Given the description of an element on the screen output the (x, y) to click on. 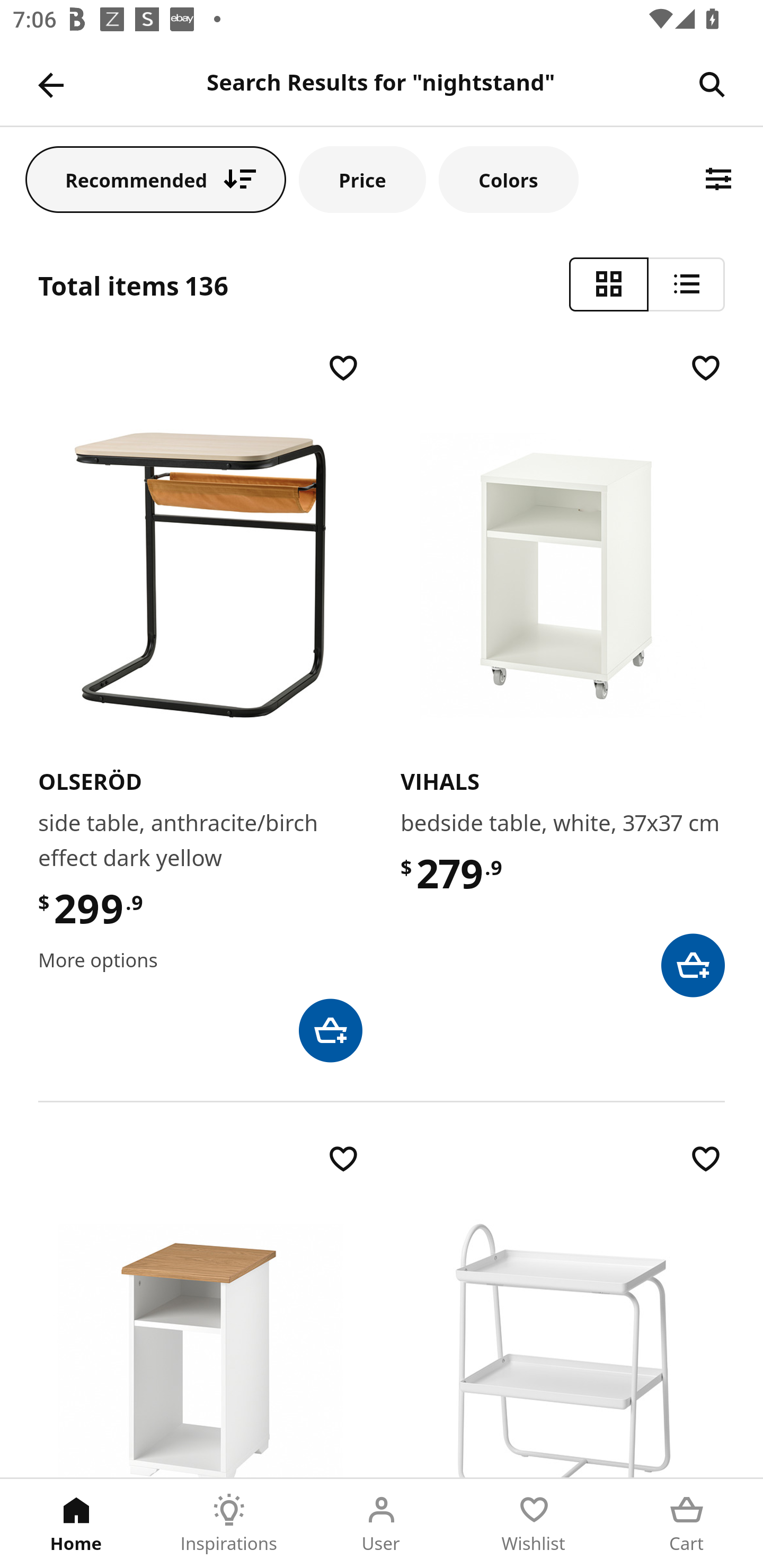
Recommended (155, 179)
Price (362, 179)
Colors (508, 179)
Home
Tab 1 of 5 (76, 1522)
Inspirations
Tab 2 of 5 (228, 1522)
User
Tab 3 of 5 (381, 1522)
Wishlist
Tab 4 of 5 (533, 1522)
Cart
Tab 5 of 5 (686, 1522)
